Given the description of an element on the screen output the (x, y) to click on. 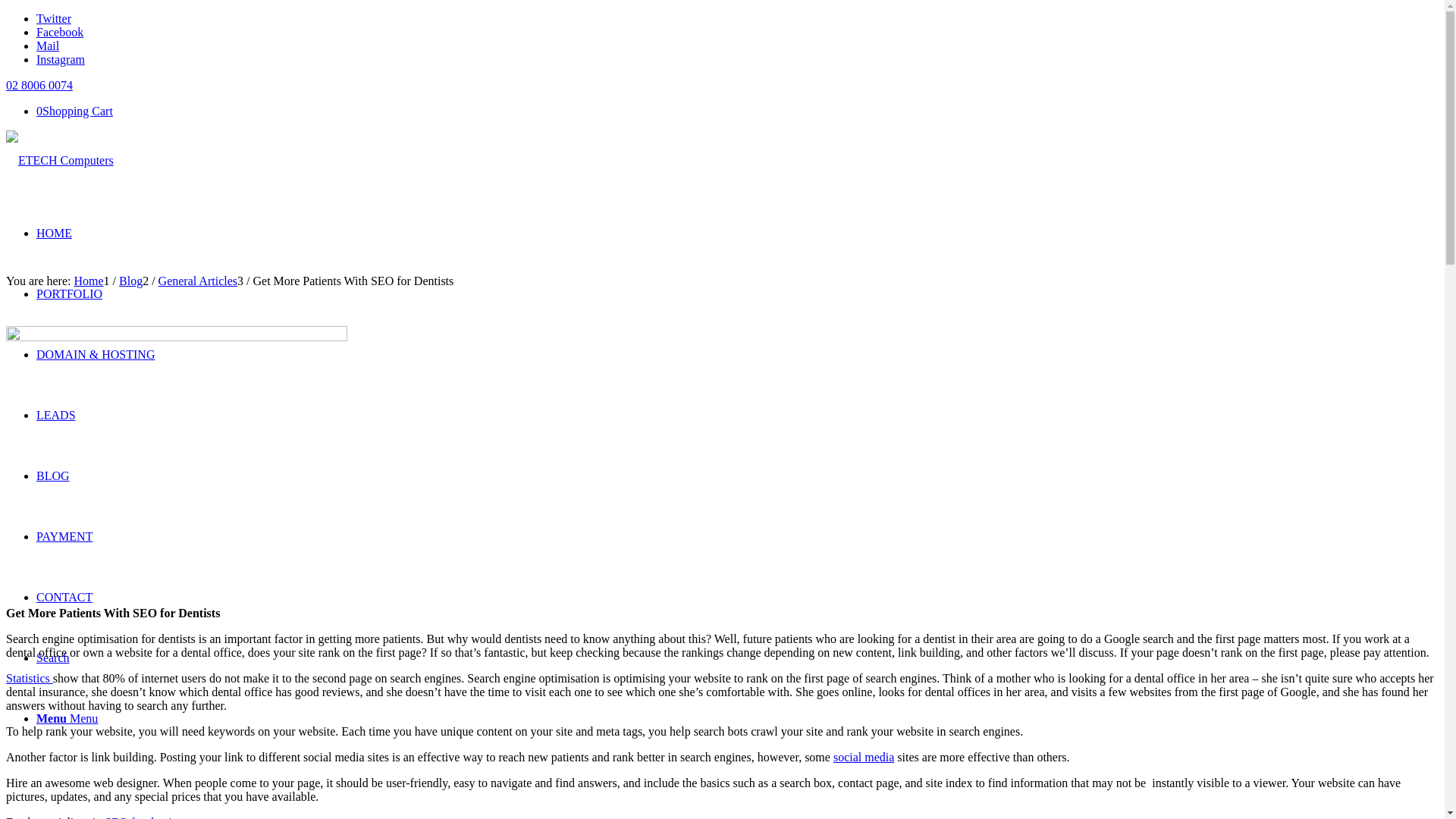
LEADS Element type: text (55, 414)
PAYMENT Element type: text (64, 536)
Menu Menu Element type: text (66, 718)
0Shopping Cart Element type: text (74, 110)
Facebook Element type: text (59, 31)
SEO-For-dentists Element type: hover (176, 460)
DOMAIN & HOSTING Element type: text (95, 354)
BLOG Element type: text (52, 475)
PORTFOLIO Element type: text (69, 293)
General Articles Element type: text (197, 280)
Twitter Element type: text (53, 18)
Statistics Element type: text (29, 677)
social media Element type: text (863, 756)
HOME Element type: text (54, 232)
CONTACT Element type: text (64, 596)
Home Element type: text (88, 280)
Search Element type: text (52, 657)
Mail Element type: text (47, 45)
02 8006 0074 Element type: text (39, 84)
Blog Element type: text (130, 280)
Instagram Element type: text (60, 59)
